Given the description of an element on the screen output the (x, y) to click on. 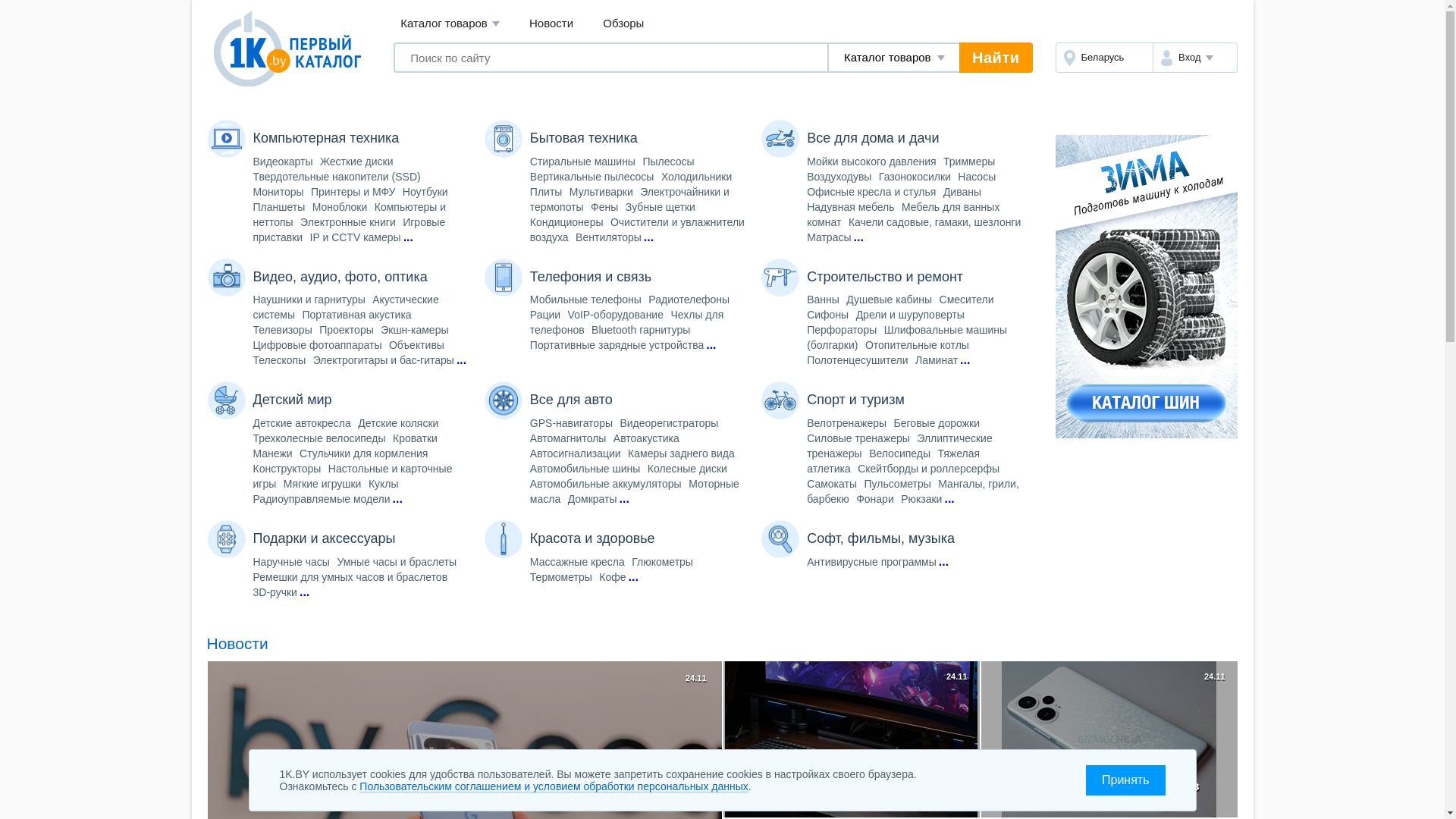
... Element type: text (710, 344)
... Element type: text (461, 359)
... Element type: text (408, 236)
... Element type: text (632, 576)
... Element type: text (964, 359)
... Element type: text (397, 498)
... Element type: text (858, 236)
... Element type: text (648, 236)
... Element type: text (624, 498)
... Element type: text (943, 561)
... Element type: text (948, 498)
... Element type: text (304, 591)
